Given the description of an element on the screen output the (x, y) to click on. 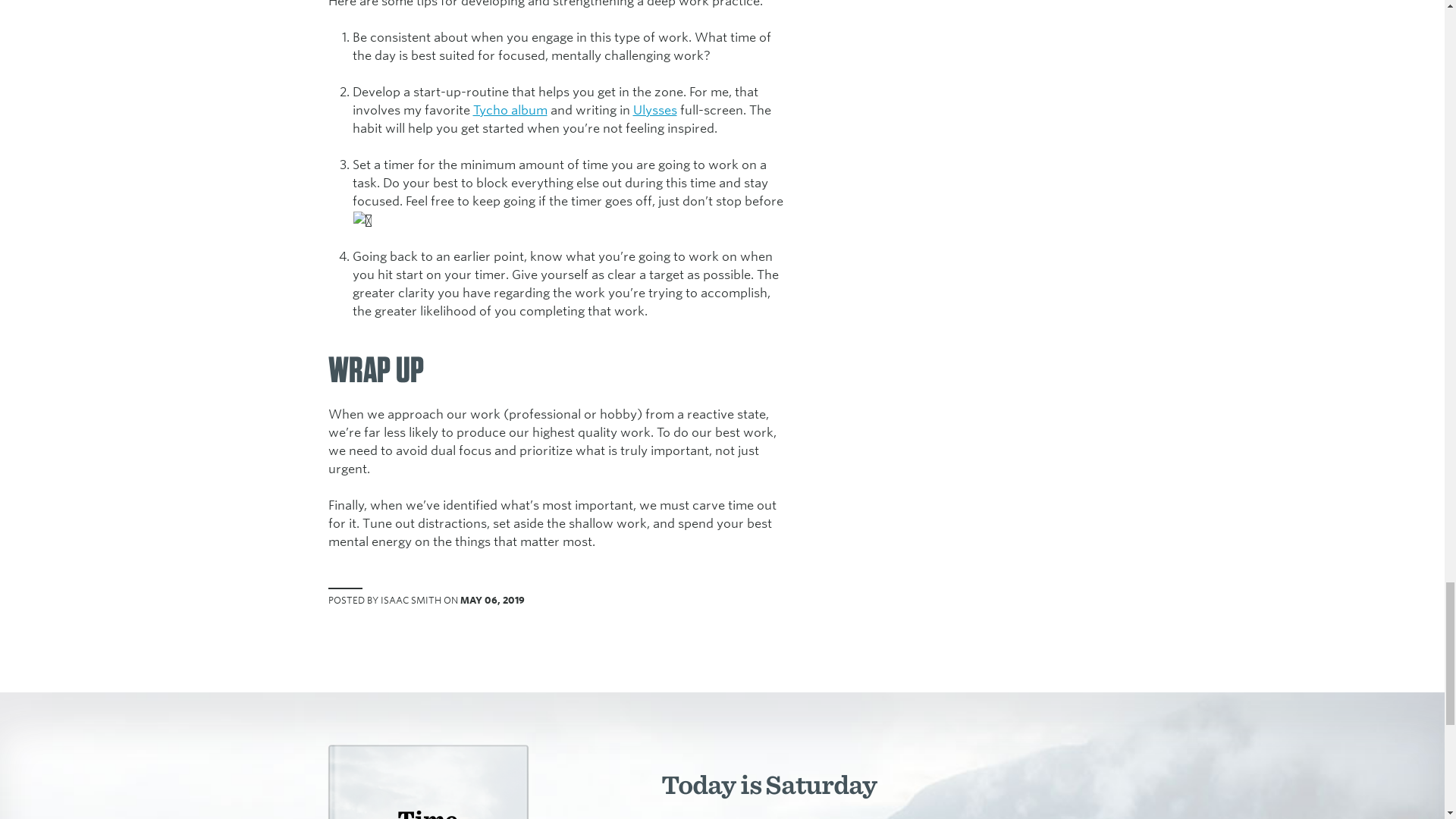
Tycho album (510, 110)
MAY 06, 2019 (492, 600)
Ulysses (654, 110)
